Given the description of an element on the screen output the (x, y) to click on. 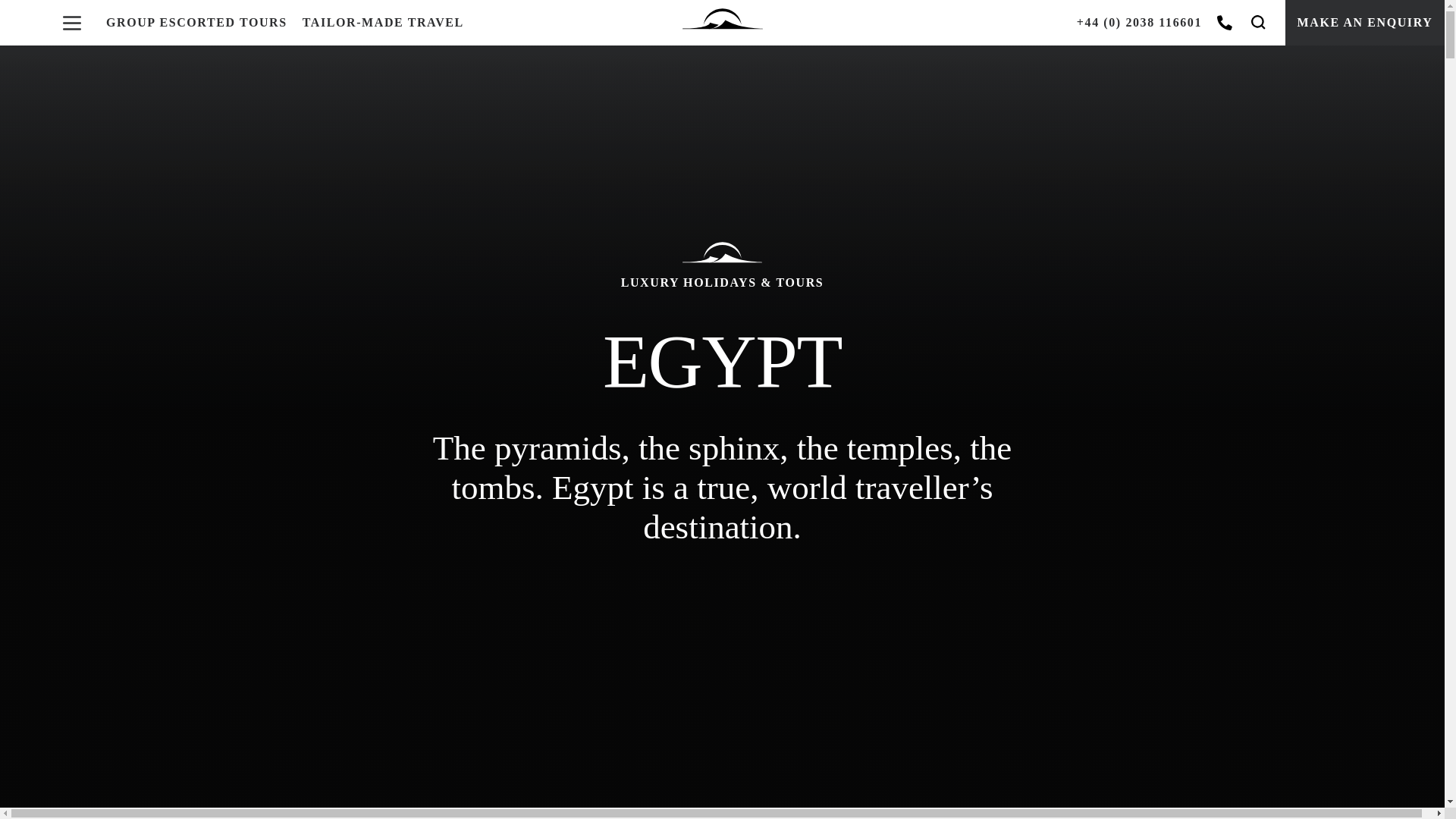
MAKE AN ENQUIRY (1364, 22)
The Ultimate Travel Company (722, 22)
GROUP ESCORTED TOURS (196, 22)
TAILOR-MADE TRAVEL (383, 22)
